Given the description of an element on the screen output the (x, y) to click on. 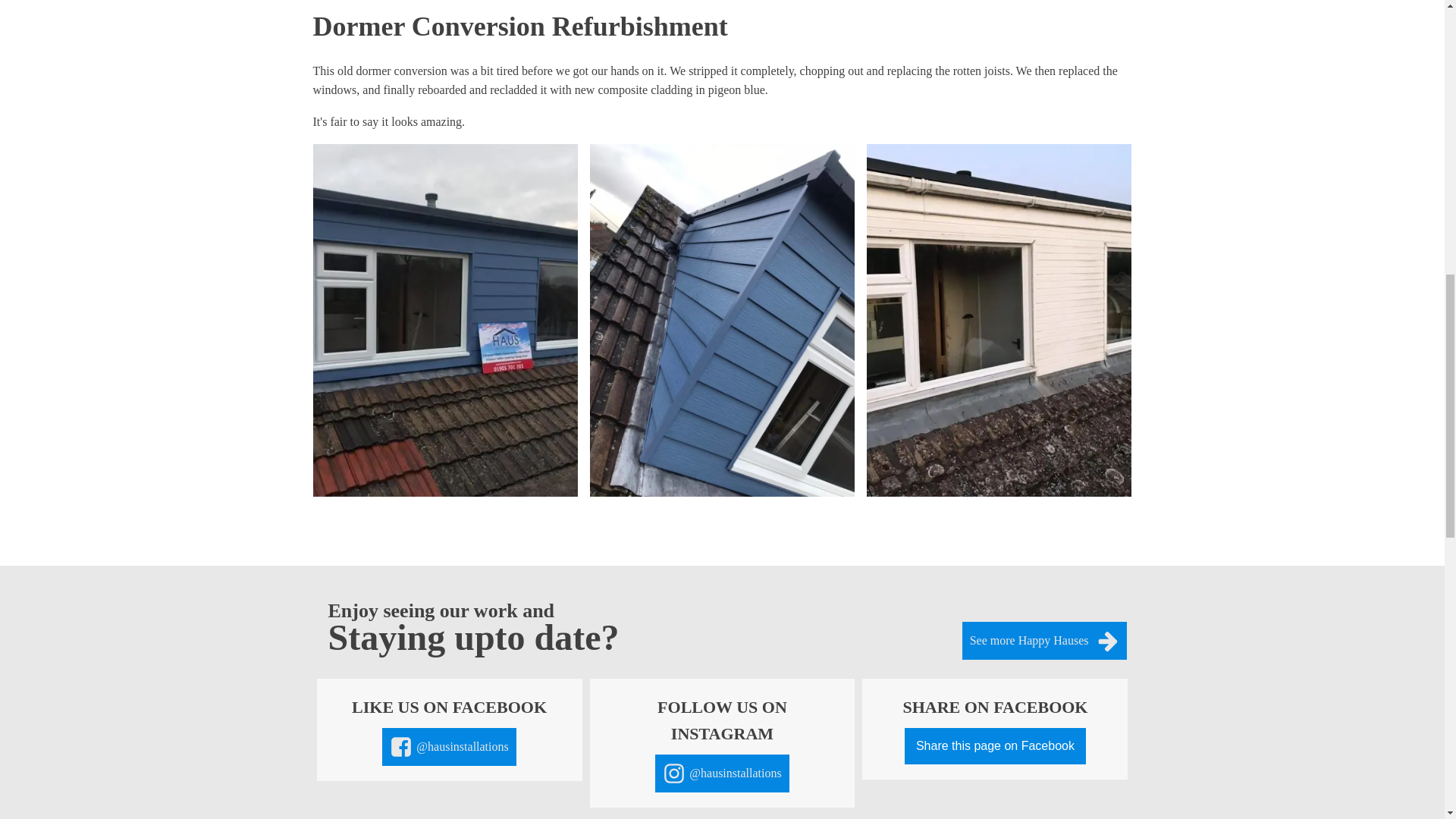
Share this page on Facebook (994, 745)
See more Happy Hauses (1044, 640)
Share this page on Facebook (995, 746)
Share this page on Facebook (994, 745)
